Given the description of an element on the screen output the (x, y) to click on. 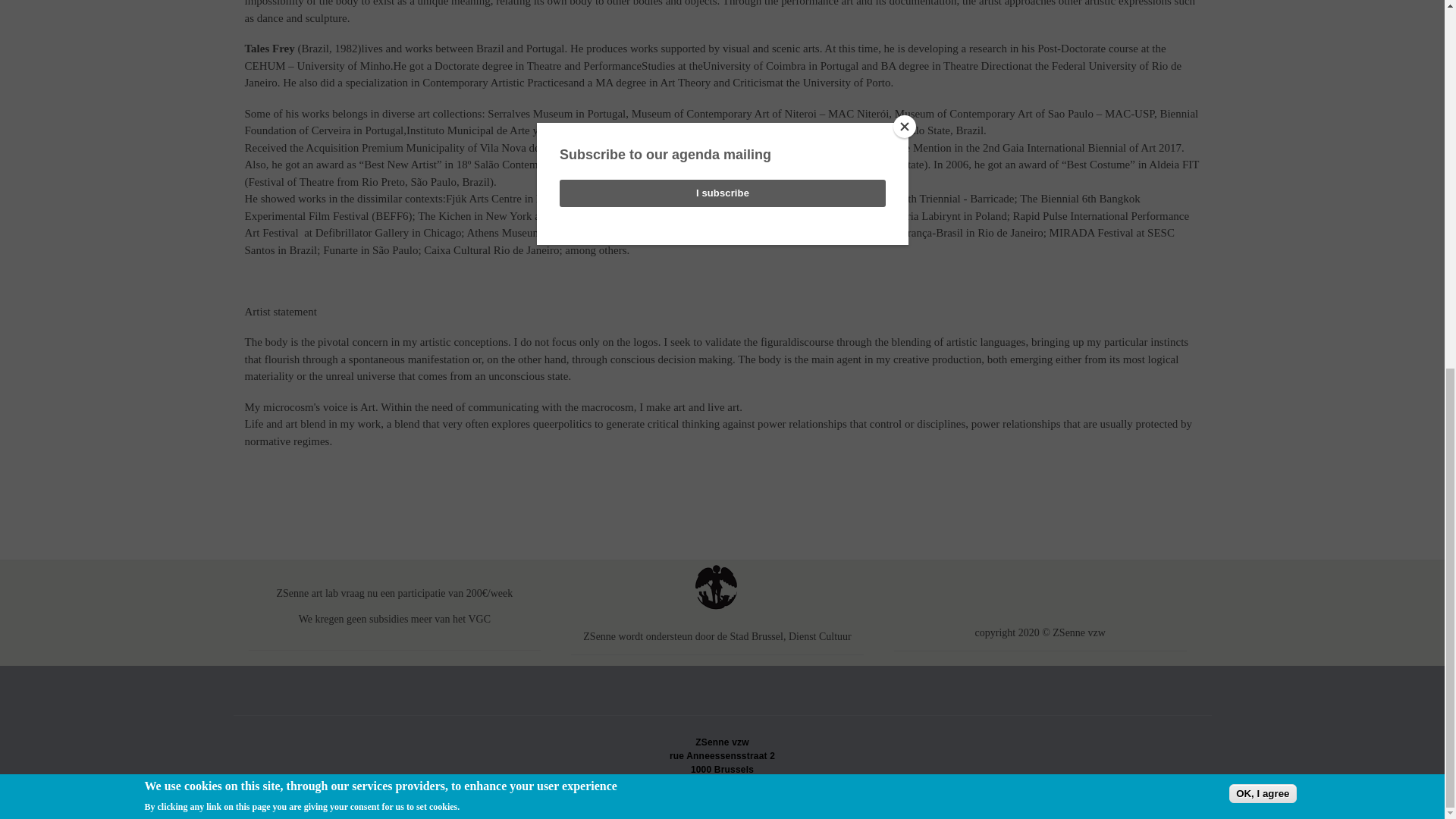
OK, I agree (1261, 127)
